Given the description of an element on the screen output the (x, y) to click on. 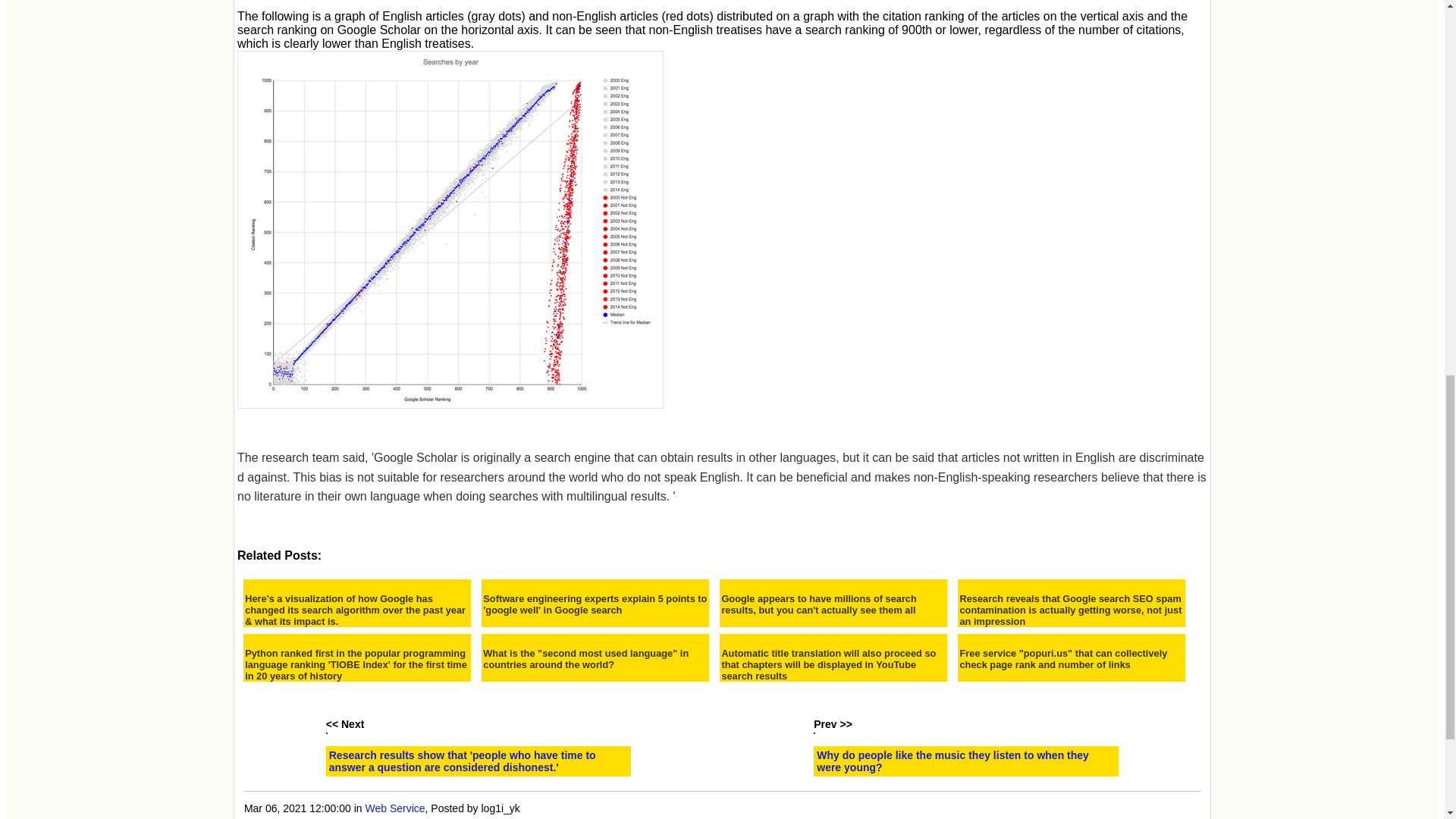
Web Service (395, 808)
